Given the description of an element on the screen output the (x, y) to click on. 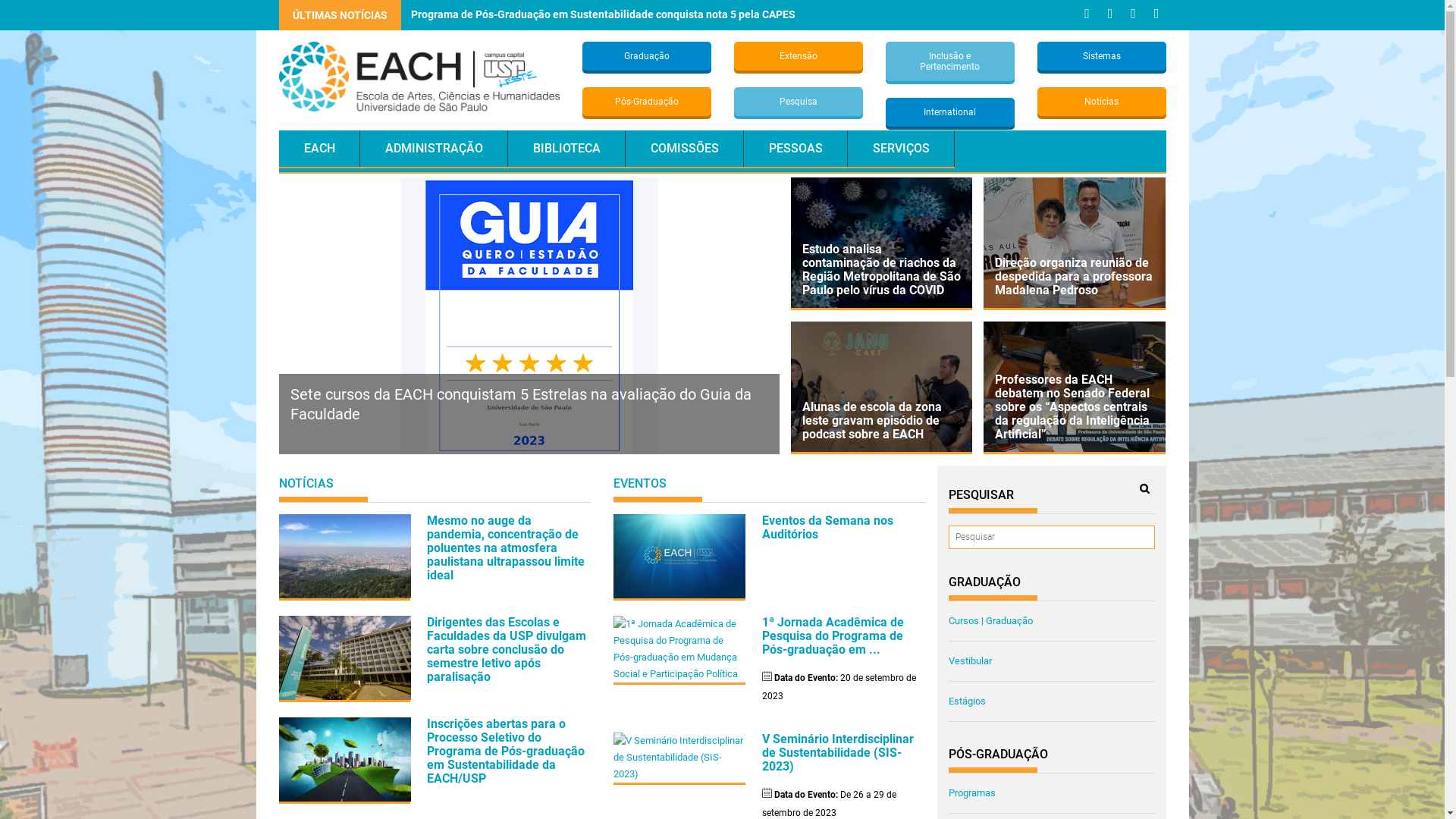
International Element type: text (949, 111)
Next Element type: text (760, 372)
PESSOAS Element type: text (795, 148)
EVENTOS Element type: text (639, 483)
EACH Element type: text (319, 148)
Pesquisar Element type: text (1143, 488)
Vestibular Element type: text (969, 660)
BIBLIOTECA Element type: text (566, 148)
Pesquisa Element type: text (798, 101)
Sistemas Element type: text (1101, 55)
Prev Element type: text (731, 372)
Programas Element type: text (971, 792)
